Given the description of an element on the screen output the (x, y) to click on. 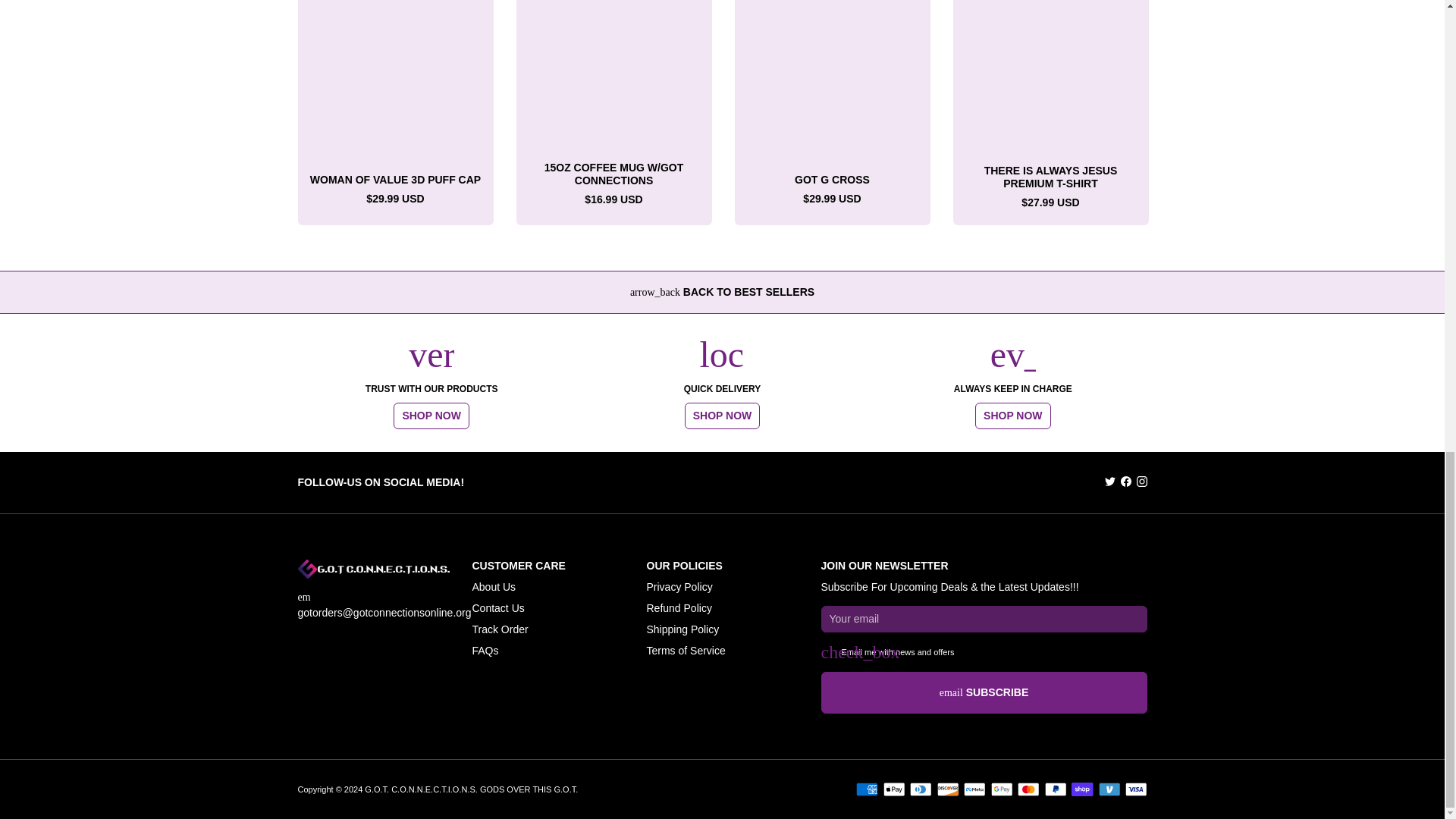
Diners Club (920, 789)
Apple Pay (893, 789)
Shop Pay (1082, 789)
PayPal (1056, 789)
Mastercard (1028, 789)
Meta Pay (974, 789)
American Express (866, 789)
Discover (948, 789)
Google Pay (1000, 789)
